Given the description of an element on the screen output the (x, y) to click on. 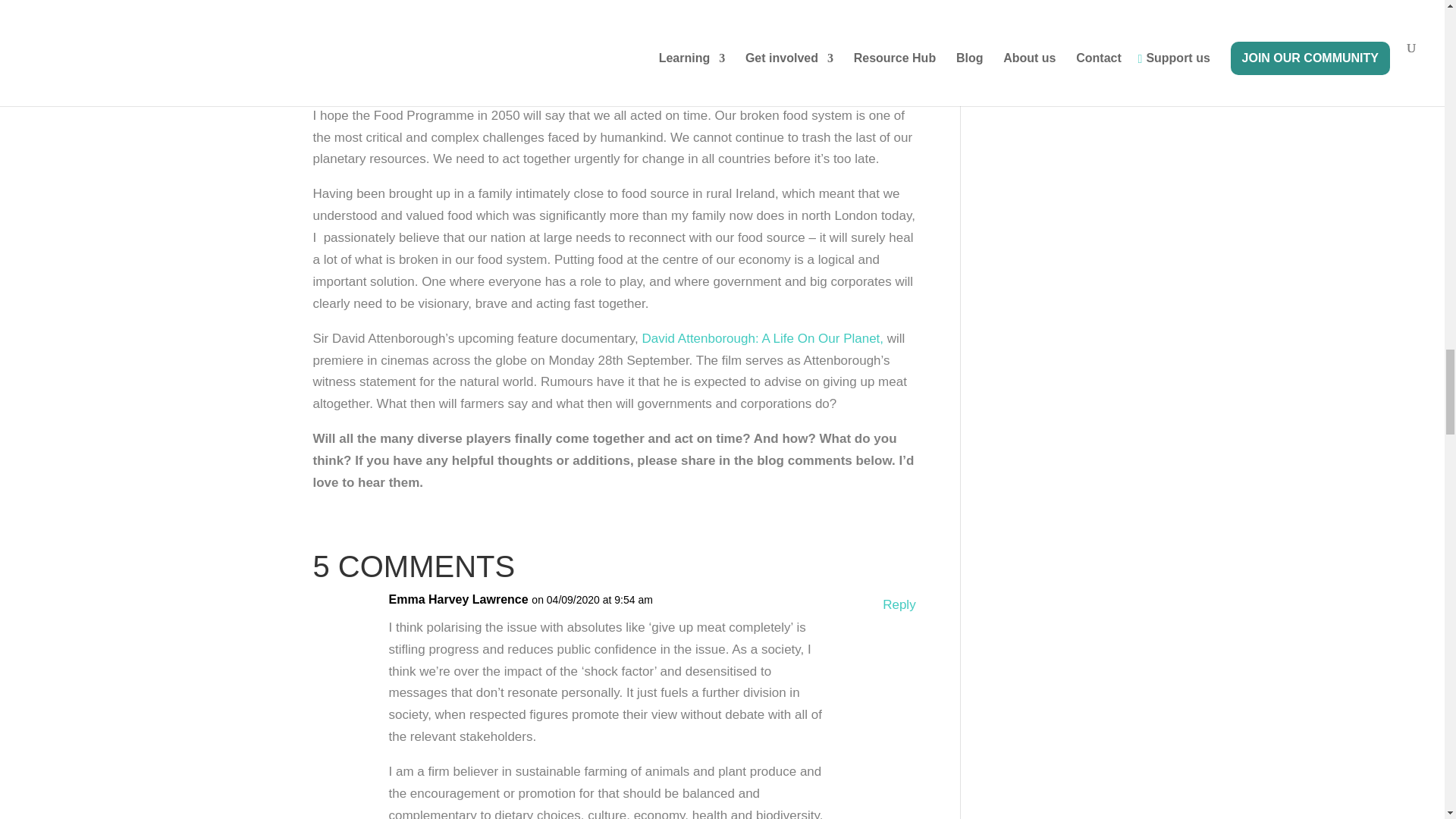
Reply (898, 605)
David Attenborough: A Life On Our Planet, (762, 338)
